Given the description of an element on the screen output the (x, y) to click on. 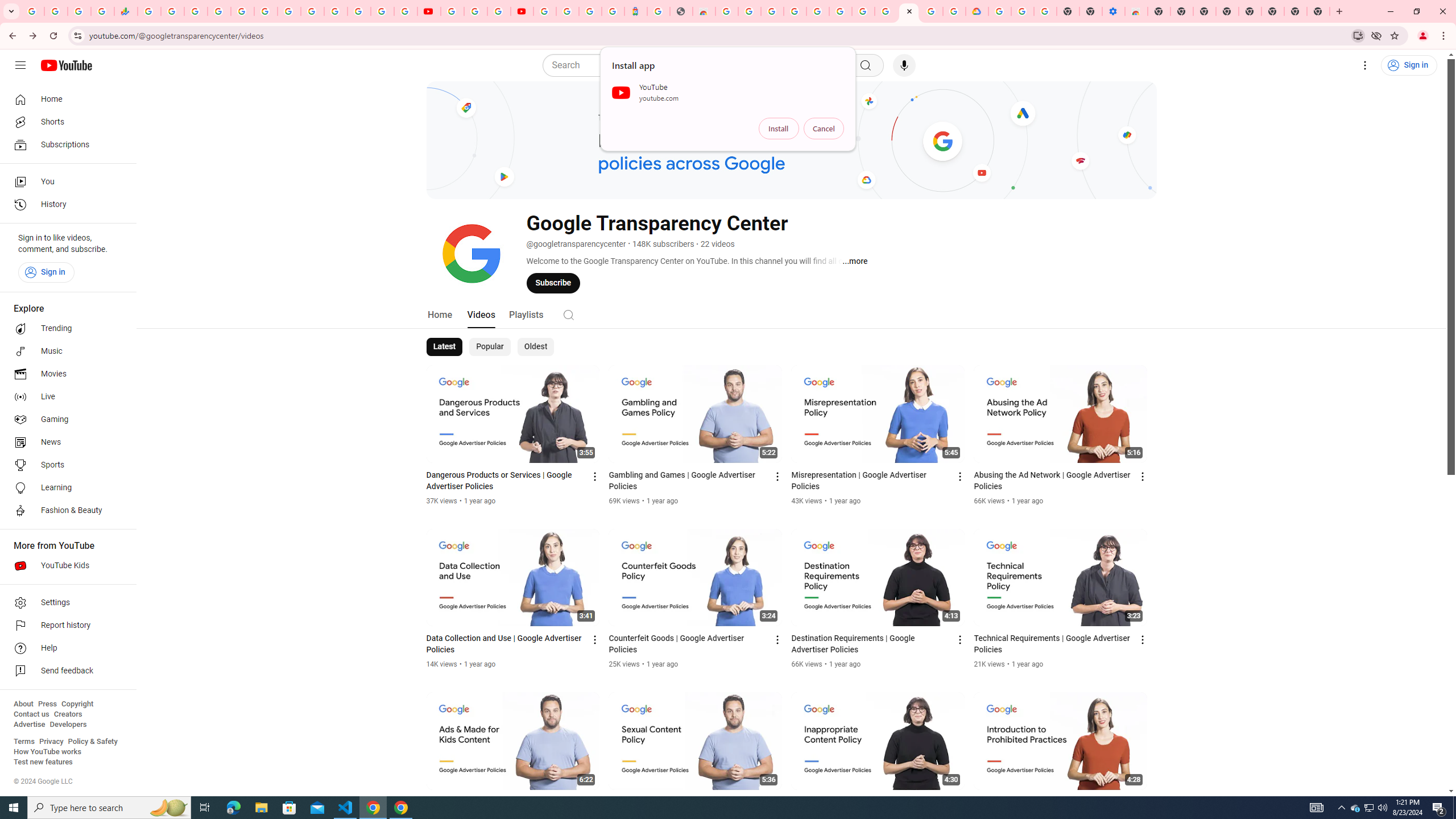
Google Account Help (863, 11)
New Tab (1318, 11)
Send feedback (64, 671)
Settings - Accessibility (1113, 11)
Popular (489, 346)
Music (64, 350)
Content Creator Programs & Opportunities - YouTube Creators (521, 11)
Settings (64, 602)
Fashion & Beauty (64, 510)
YouTube (428, 11)
Playlists (525, 314)
